Given the description of an element on the screen output the (x, y) to click on. 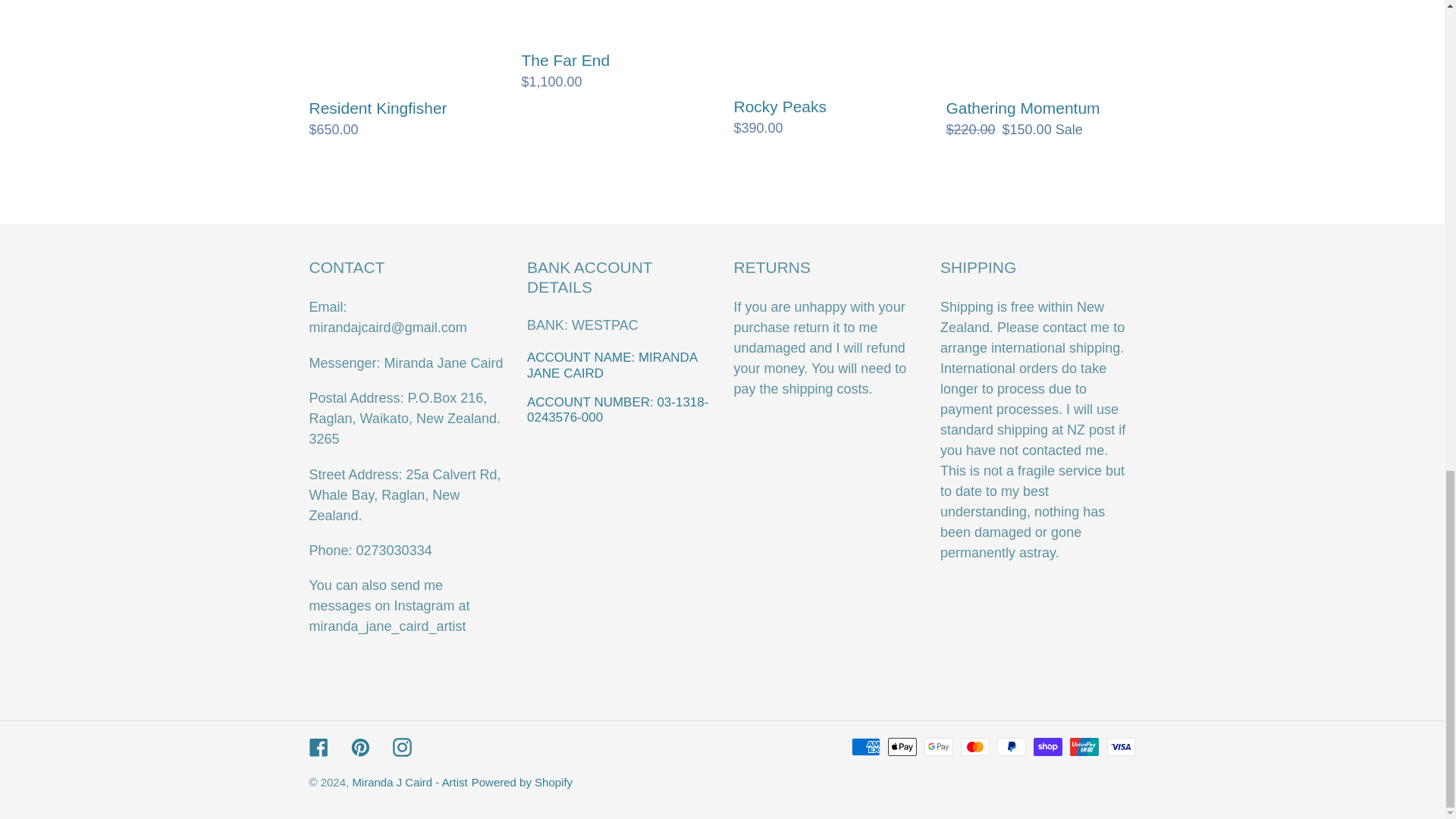
Instagram (402, 747)
Gathering Momentum (1040, 70)
The Far End (616, 45)
Resident Kingfisher (403, 70)
Rocky Peaks (828, 69)
Pinterest (359, 747)
Facebook (318, 747)
